Given the description of an element on the screen output the (x, y) to click on. 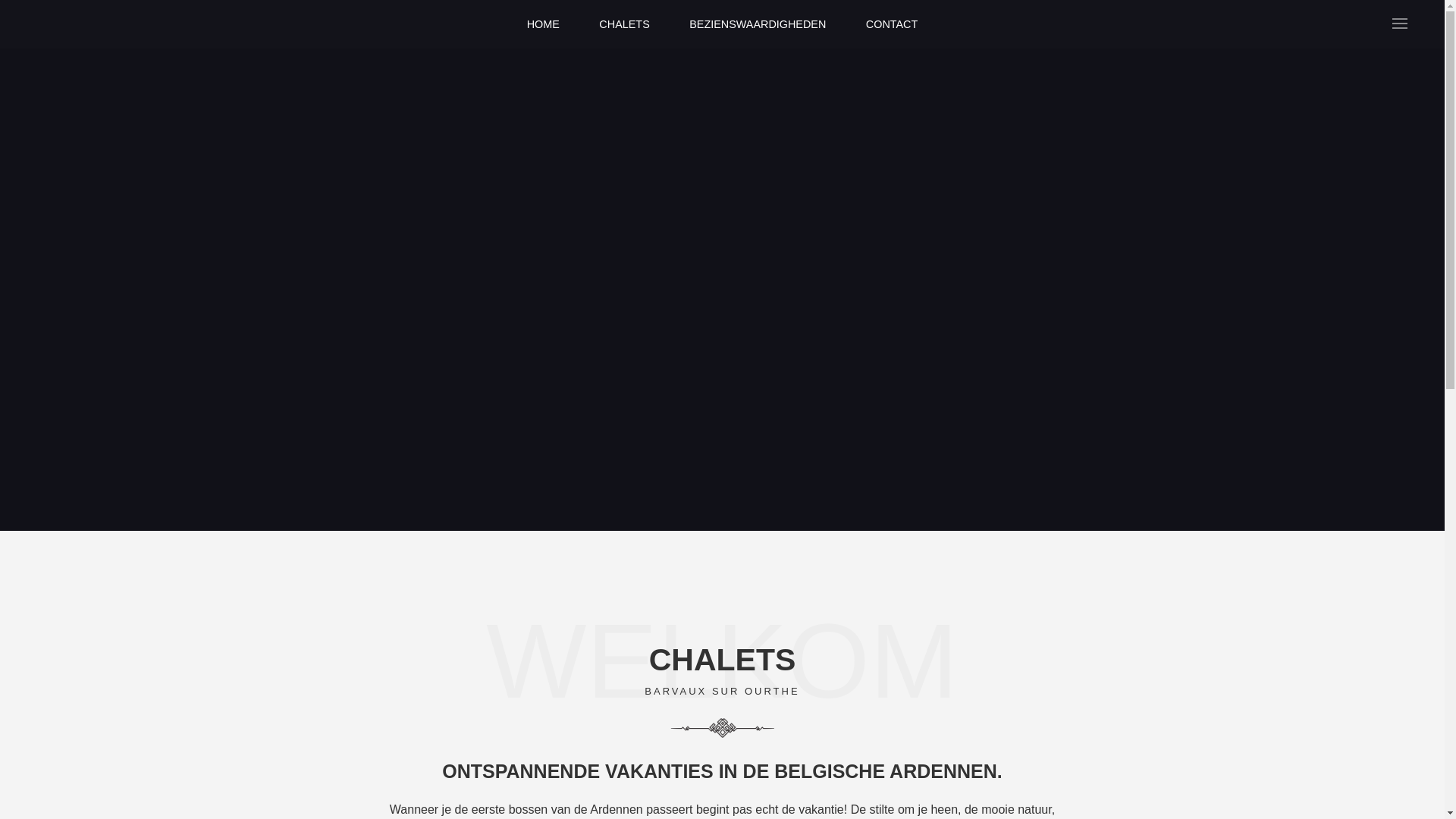
CONTACT Element type: text (891, 24)
HOME Element type: text (543, 24)
BEZIENSWAARDIGHEDEN Element type: text (757, 24)
CHALETS Element type: text (624, 24)
